Given the description of an element on the screen output the (x, y) to click on. 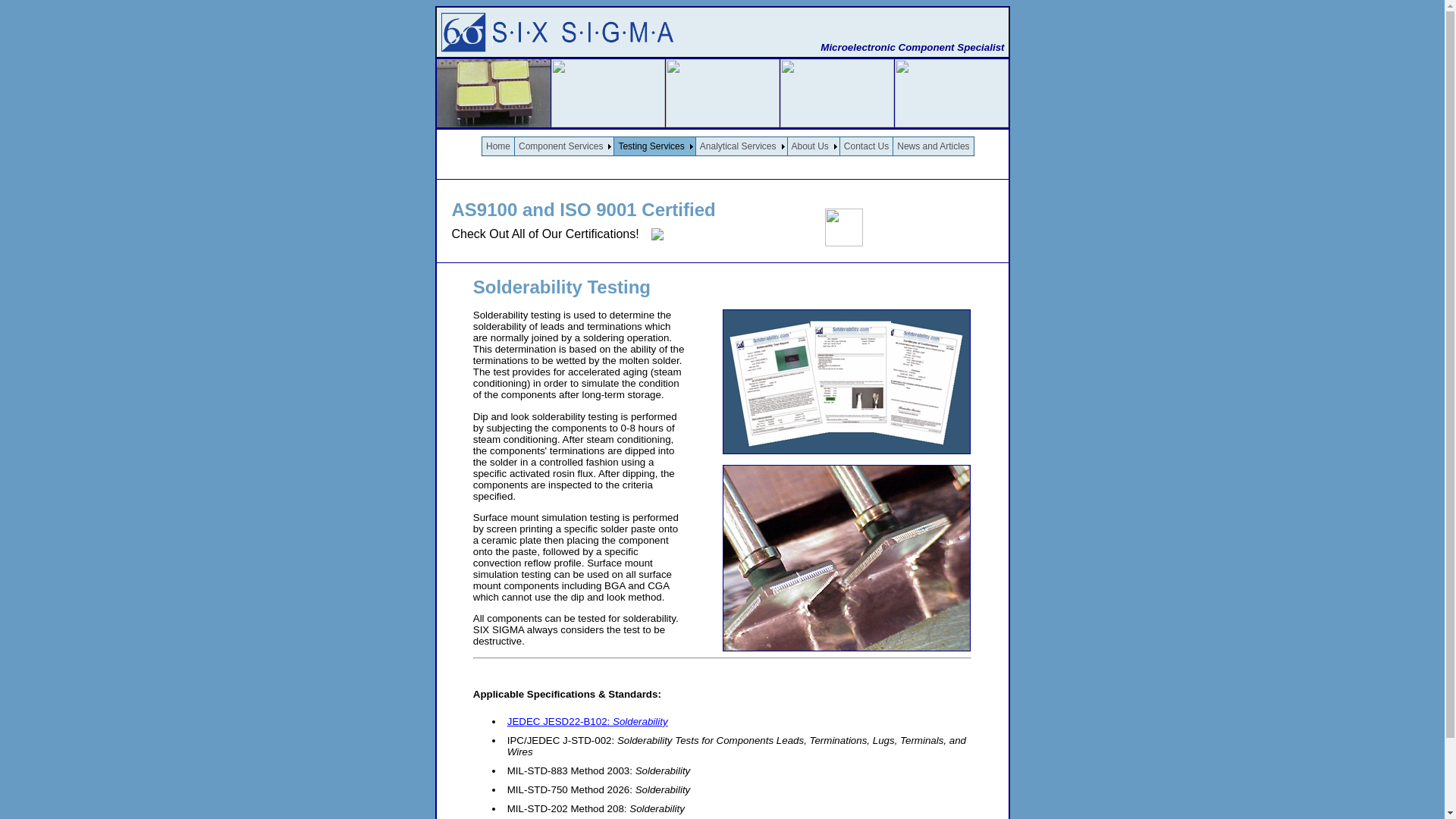
News and Articles (932, 145)
Home (498, 145)
Contact Us (866, 145)
JEDEC JESD22-B102: Solderability (587, 721)
